Given the description of an element on the screen output the (x, y) to click on. 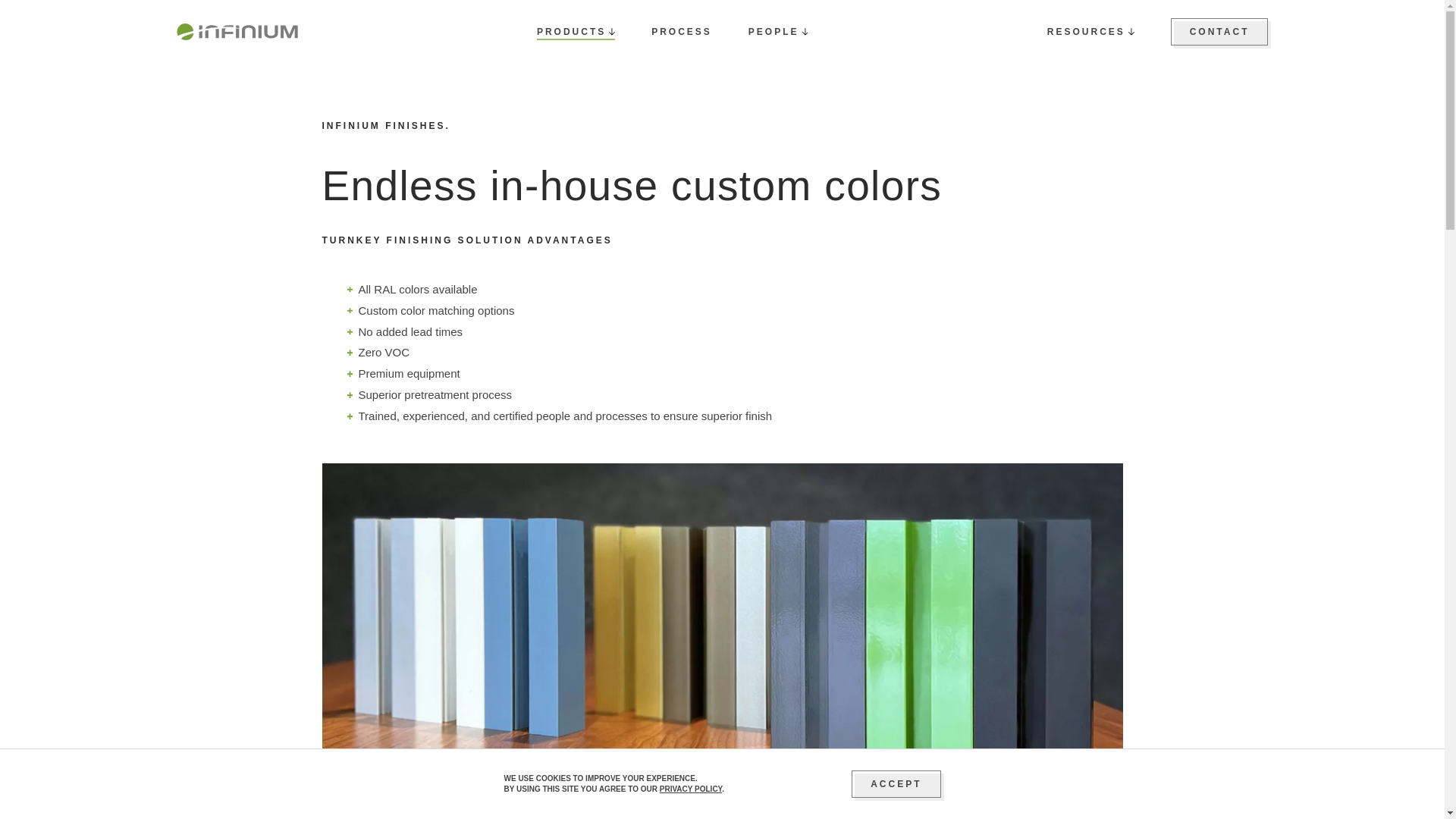
PEOPLE (778, 31)
CONTACT (1219, 31)
PROCESS (680, 31)
PRODUCTS (575, 31)
Infinium (236, 31)
